Given the description of an element on the screen output the (x, y) to click on. 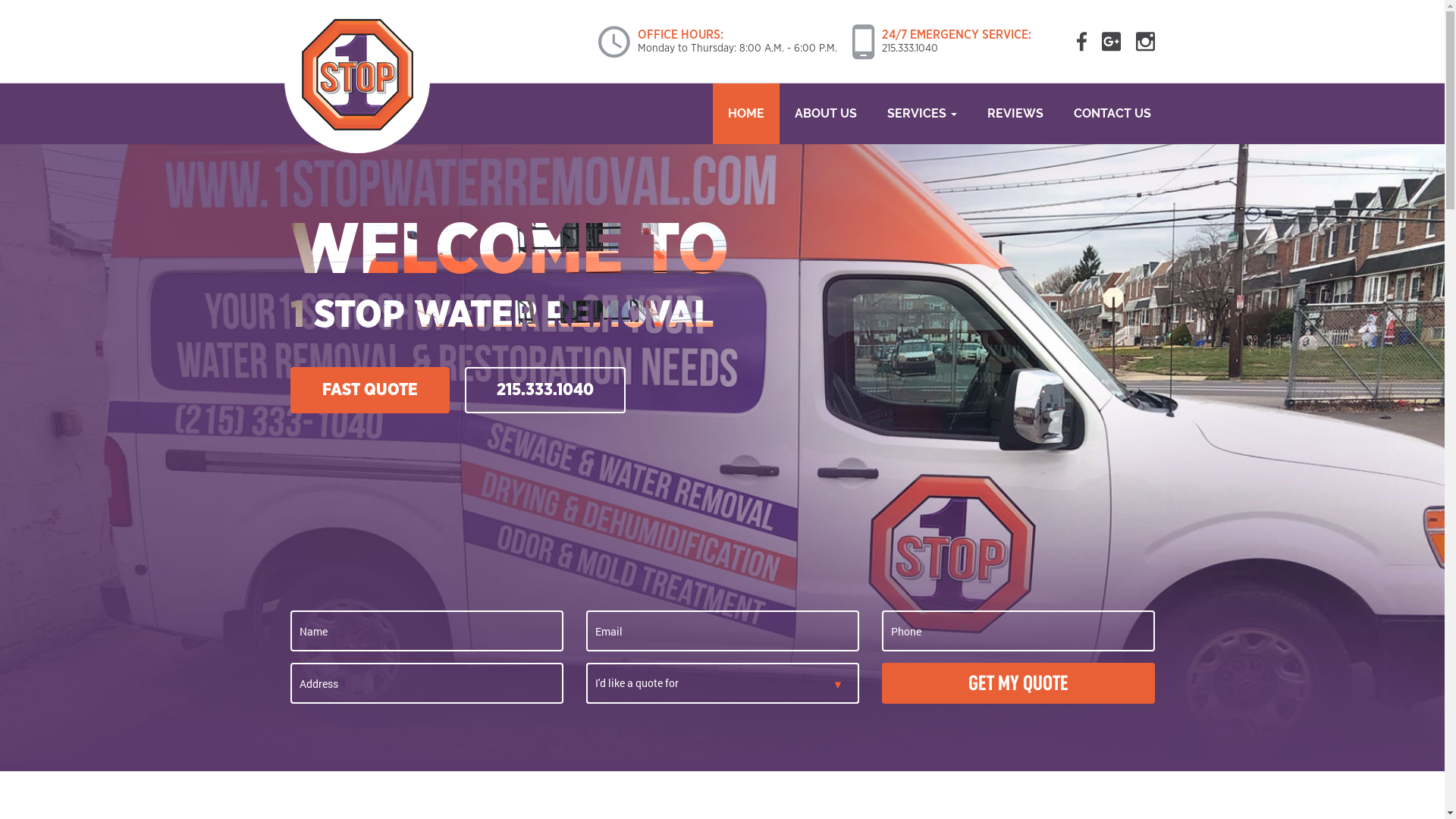
CONTACT US Element type: text (1112, 113)
SERVICES Element type: text (922, 113)
REVIEWS Element type: text (1015, 113)
ABOUT US Element type: text (825, 113)
215.333.1040 Element type: text (544, 390)
FAST QUOTE Element type: text (368, 390)
HOME Element type: text (745, 113)
Get My Quote Element type: text (1017, 682)
